Given the description of an element on the screen output the (x, y) to click on. 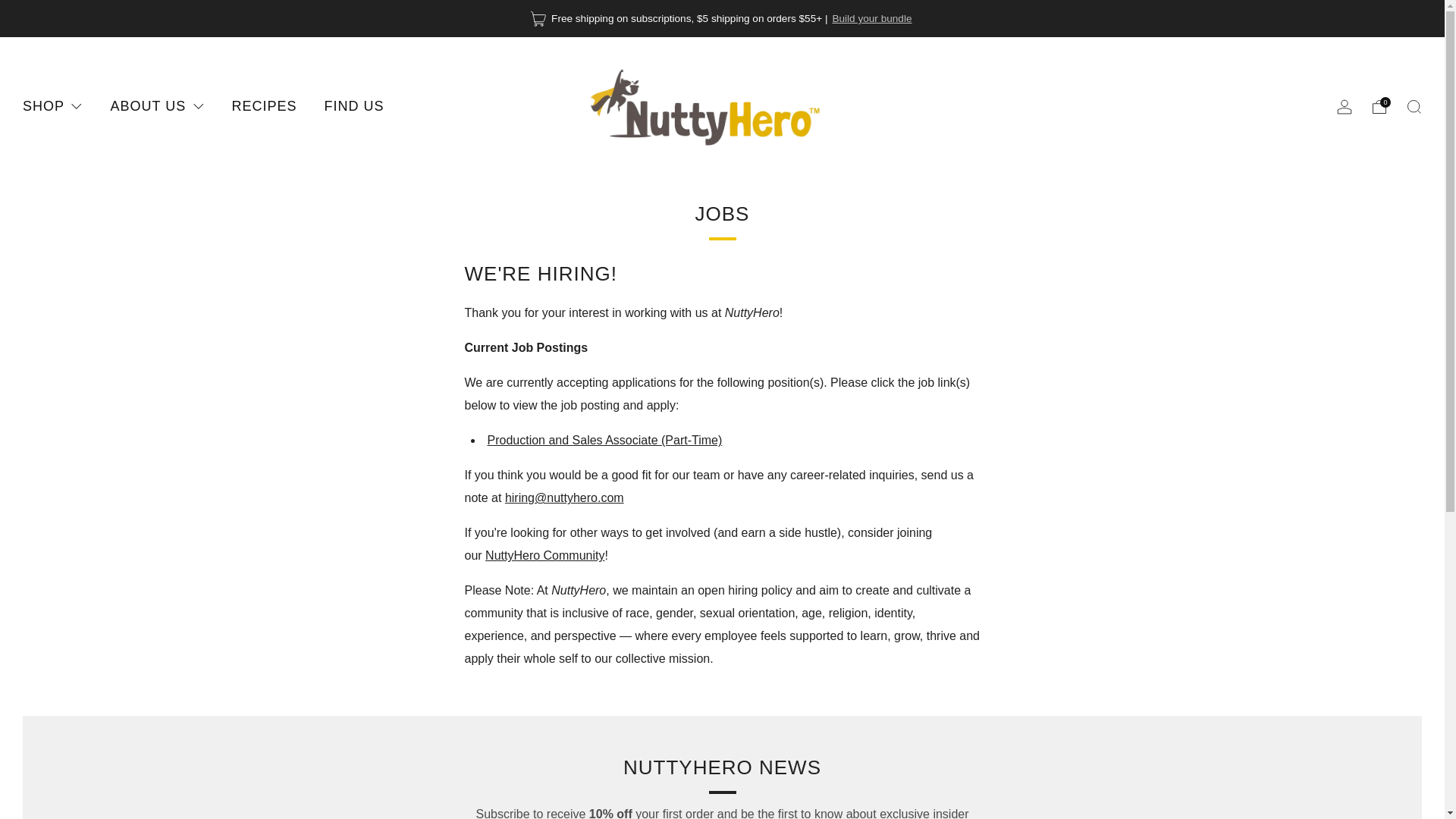
ABOUT US (156, 105)
NuttyHero Ambassador Application (544, 554)
0 (1379, 106)
SHOP (52, 105)
NuttyHero Jobs - Food Production and Sales Associate (604, 440)
Email NuttyHero Hiring (564, 497)
FIND US (354, 105)
RECIPES (264, 105)
Build your bundle (871, 18)
